Given the description of an element on the screen output the (x, y) to click on. 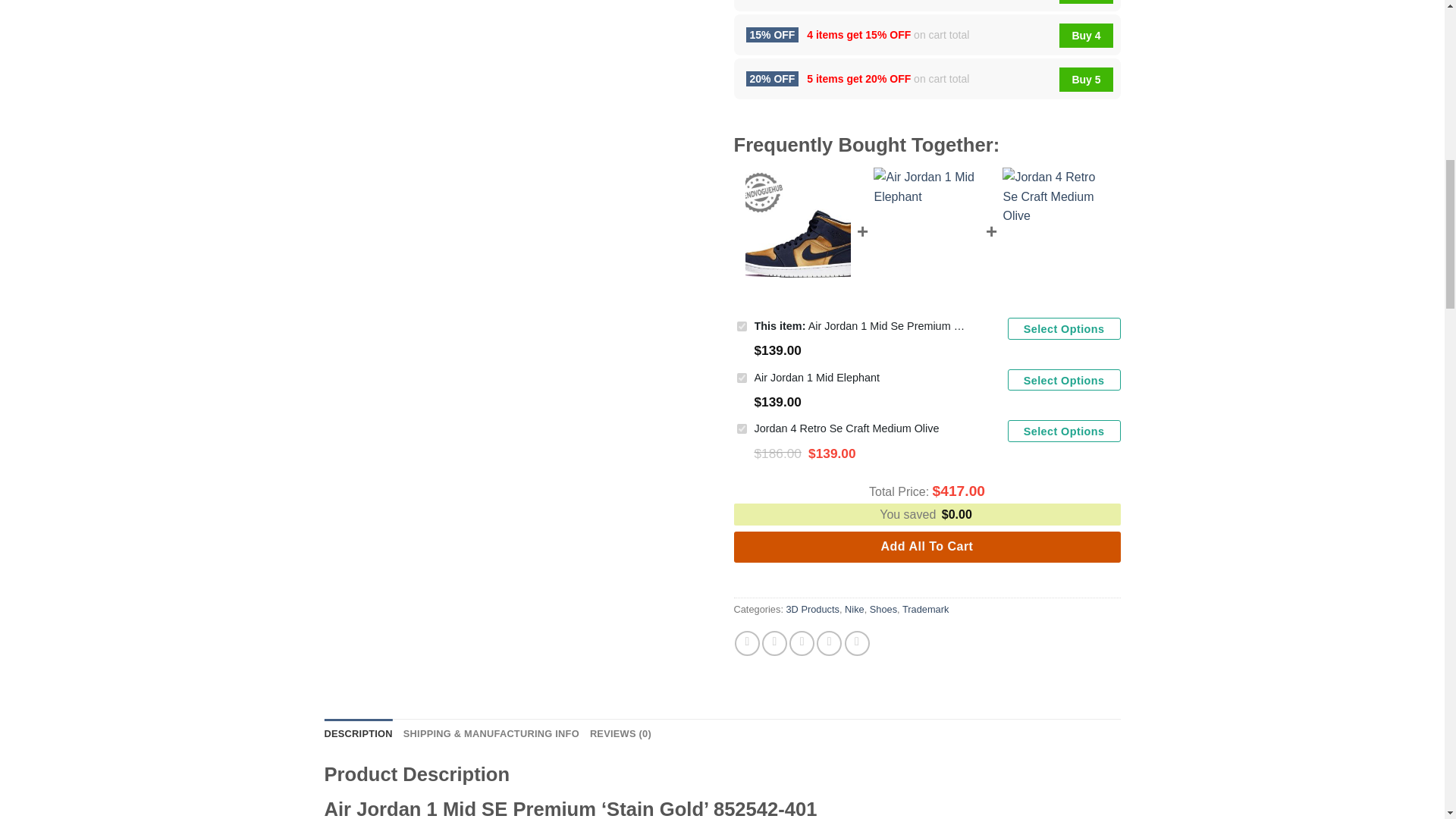
7130 (741, 378)
15973 (741, 326)
6949 (741, 429)
